Given the description of an element on the screen output the (x, y) to click on. 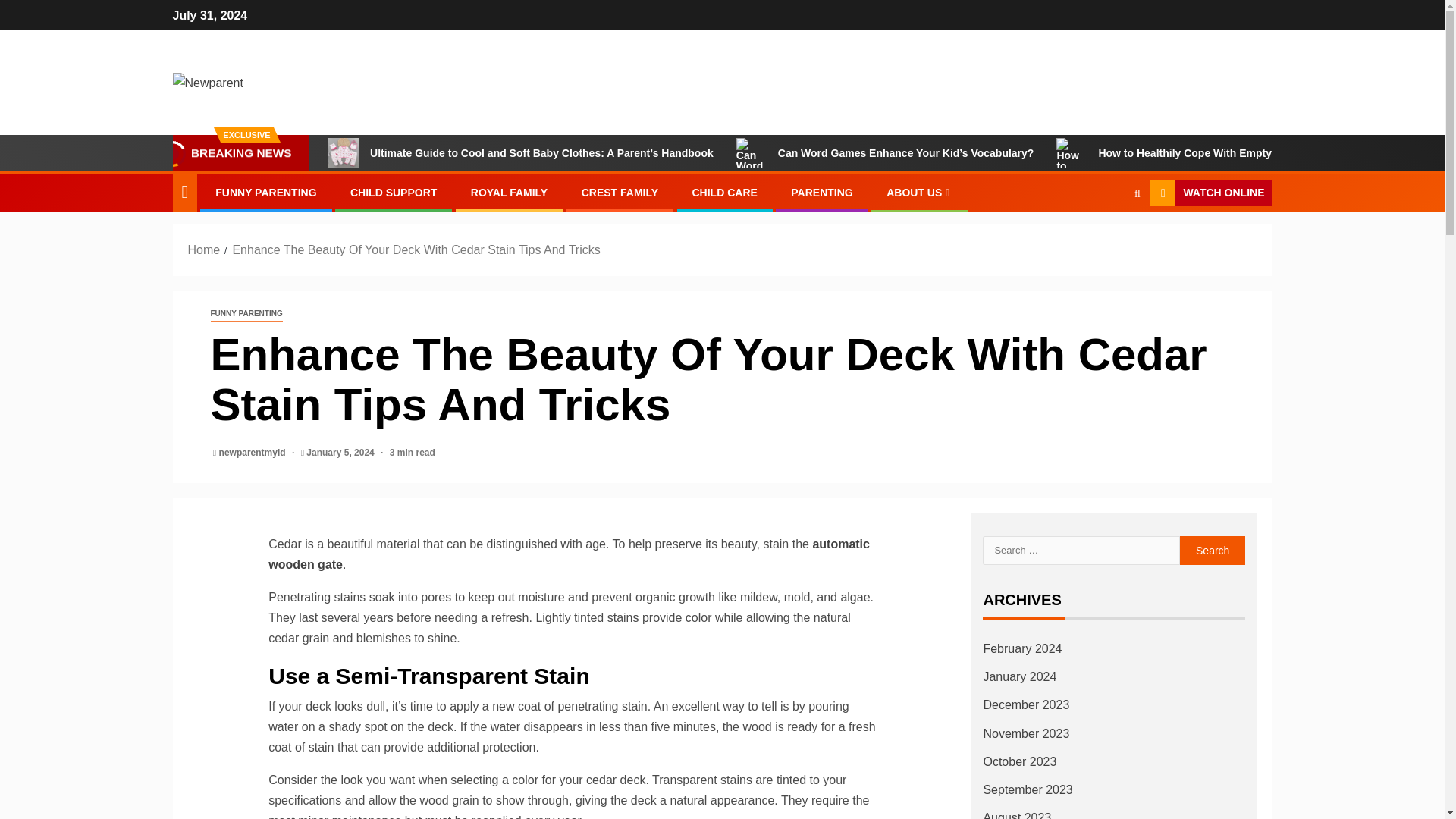
Search (1212, 550)
PARENTING (820, 192)
FUNNY PARENTING (265, 192)
How to Healthily Cope With Empty Nest Syndrome (1203, 153)
newparentmyid (253, 452)
ABOUT US (919, 192)
Home (204, 249)
automatic wooden gate (568, 553)
WATCH ONLINE (1210, 193)
Search (1107, 238)
FUNNY PARENTING (246, 314)
CREST FAMILY (619, 192)
ROYAL FAMILY (508, 192)
CHILD SUPPORT (393, 192)
